Given the description of an element on the screen output the (x, y) to click on. 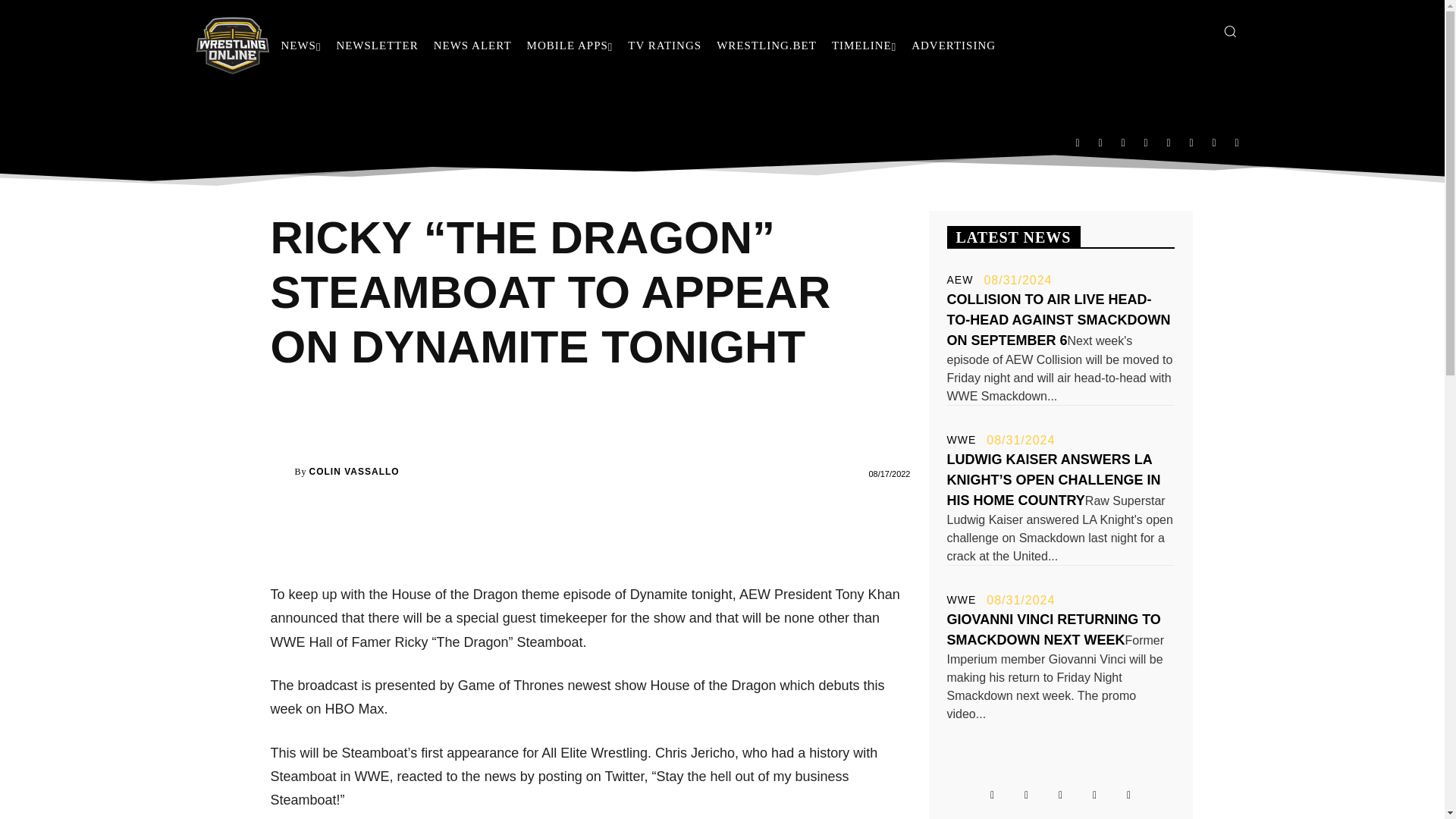
Mail (1123, 141)
Instagram (1100, 141)
RSS (1145, 141)
NEWS (301, 44)
Facebook (1077, 141)
